Given the description of an element on the screen output the (x, y) to click on. 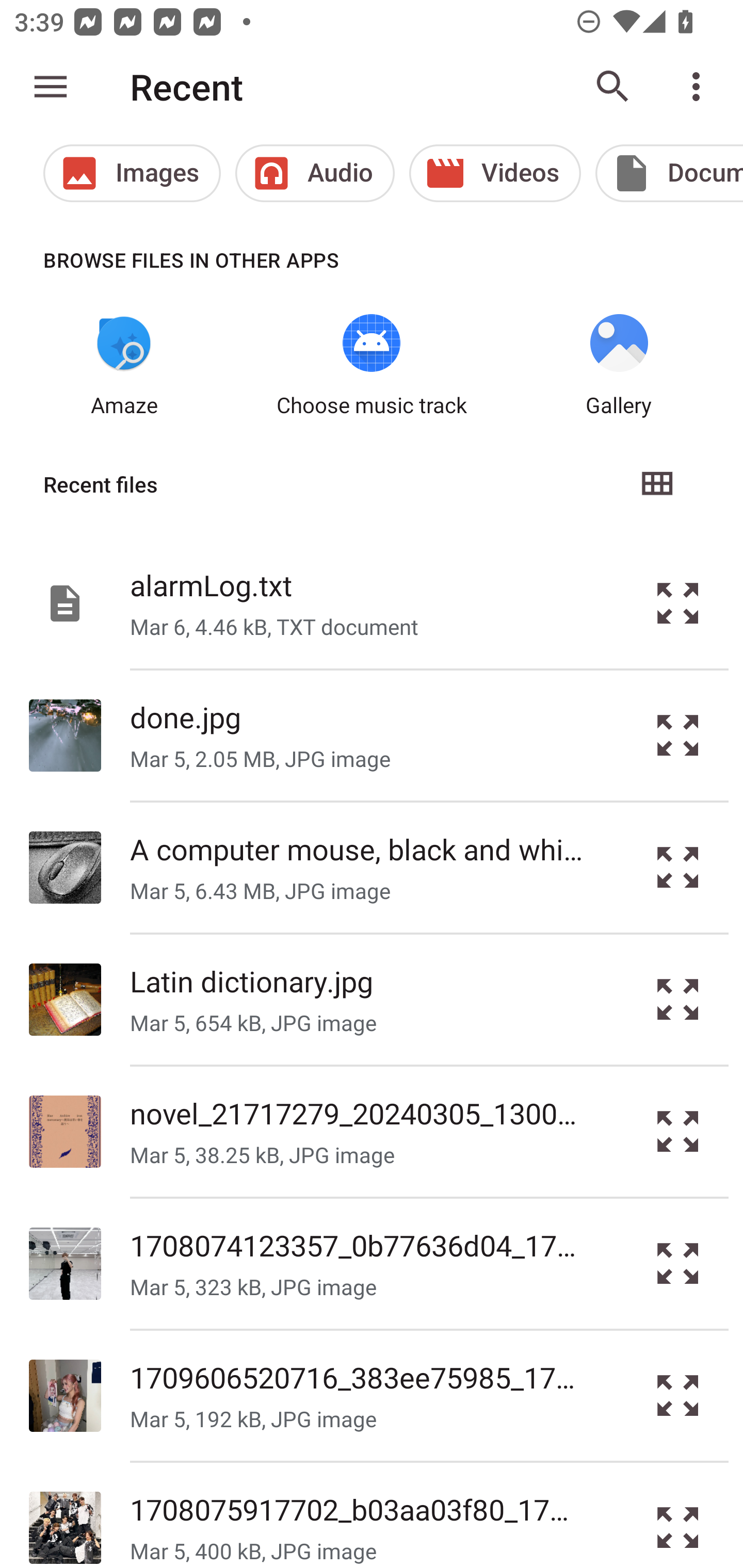
Show roots (50, 86)
Search (612, 86)
More options (699, 86)
Images (131, 173)
Audio (314, 173)
Videos (495, 173)
Documents (669, 173)
Amaze (123, 365)
Choose music track (371, 365)
Gallery (619, 365)
Grid view (655, 484)
Preview the file alarmLog.txt (677, 602)
Preview the file done.jpg (677, 736)
Preview the file Latin dictionary.jpg (677, 999)
